Given the description of an element on the screen output the (x, y) to click on. 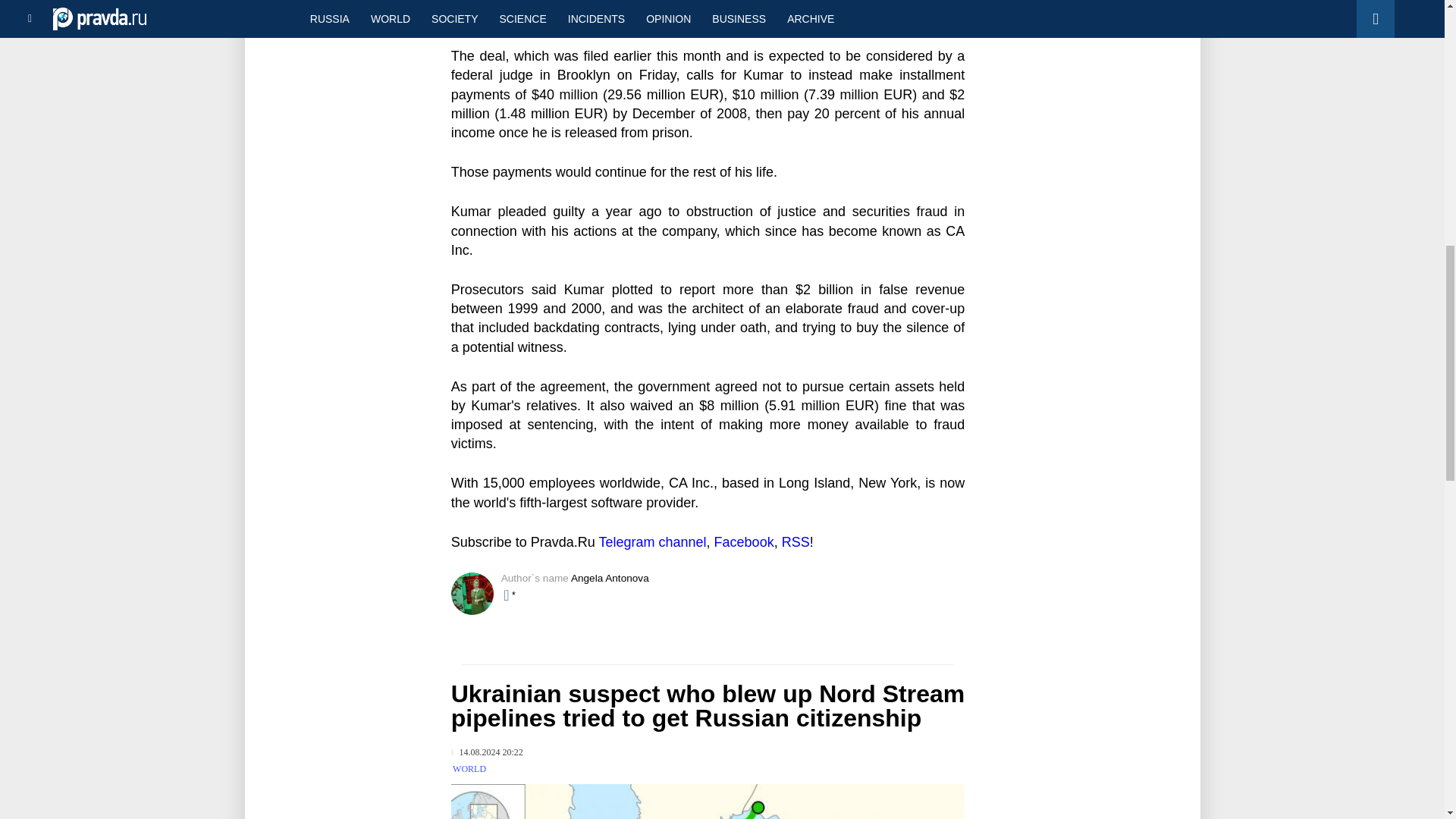
Facebook (744, 541)
Published (486, 752)
Telegram channel (652, 541)
RSS (795, 541)
Back to top (1418, 79)
Angela Antonova (609, 577)
